Given the description of an element on the screen output the (x, y) to click on. 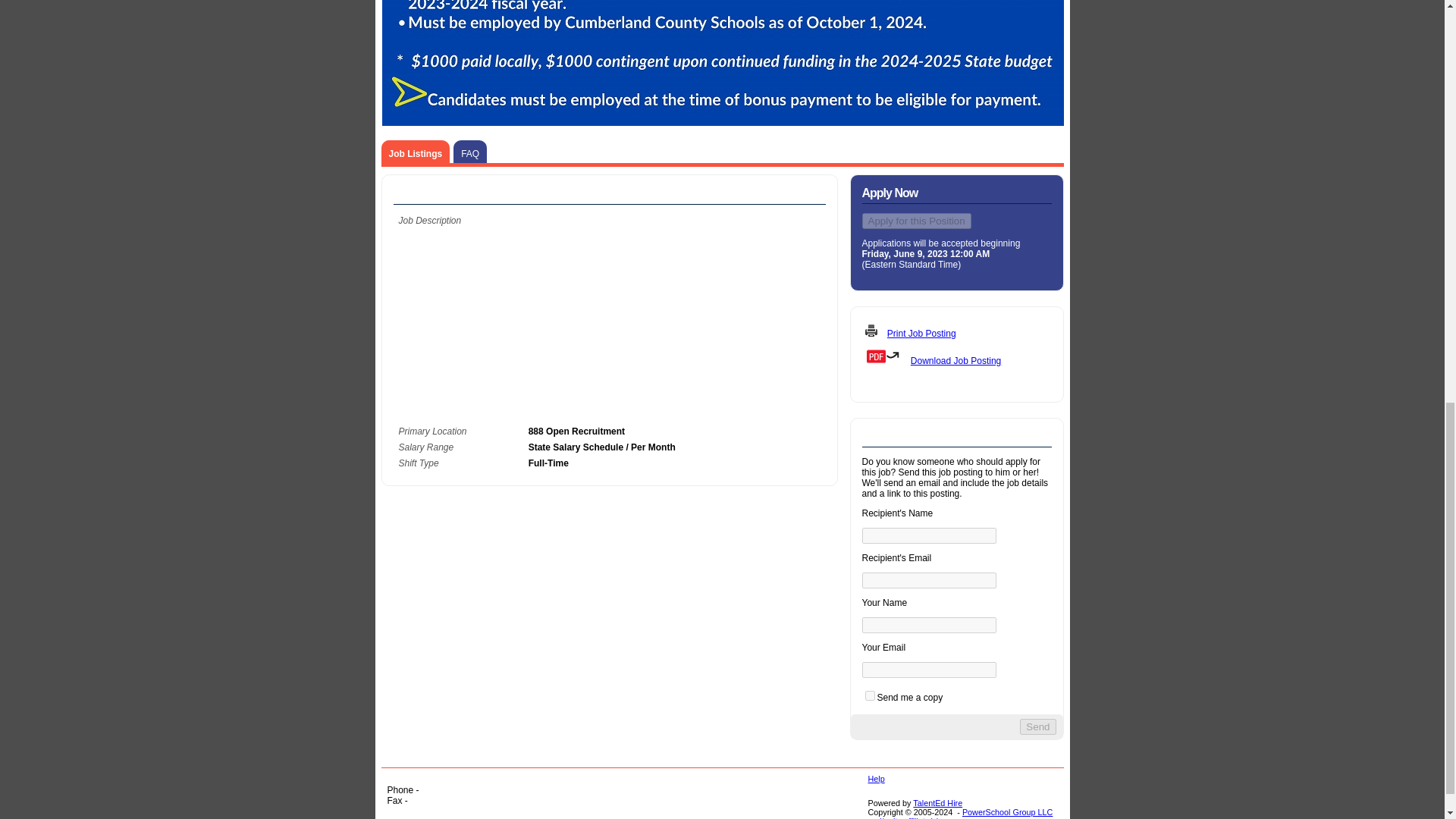
t (869, 696)
TalentEd Hire (937, 802)
HTML Print Version (956, 331)
Help (875, 777)
Download Job Posting (956, 360)
Send (1037, 726)
Apply for this Position (916, 220)
Print Job Posting (921, 333)
PDF Print Version (956, 356)
Apply for this Position (916, 220)
